Given the description of an element on the screen output the (x, y) to click on. 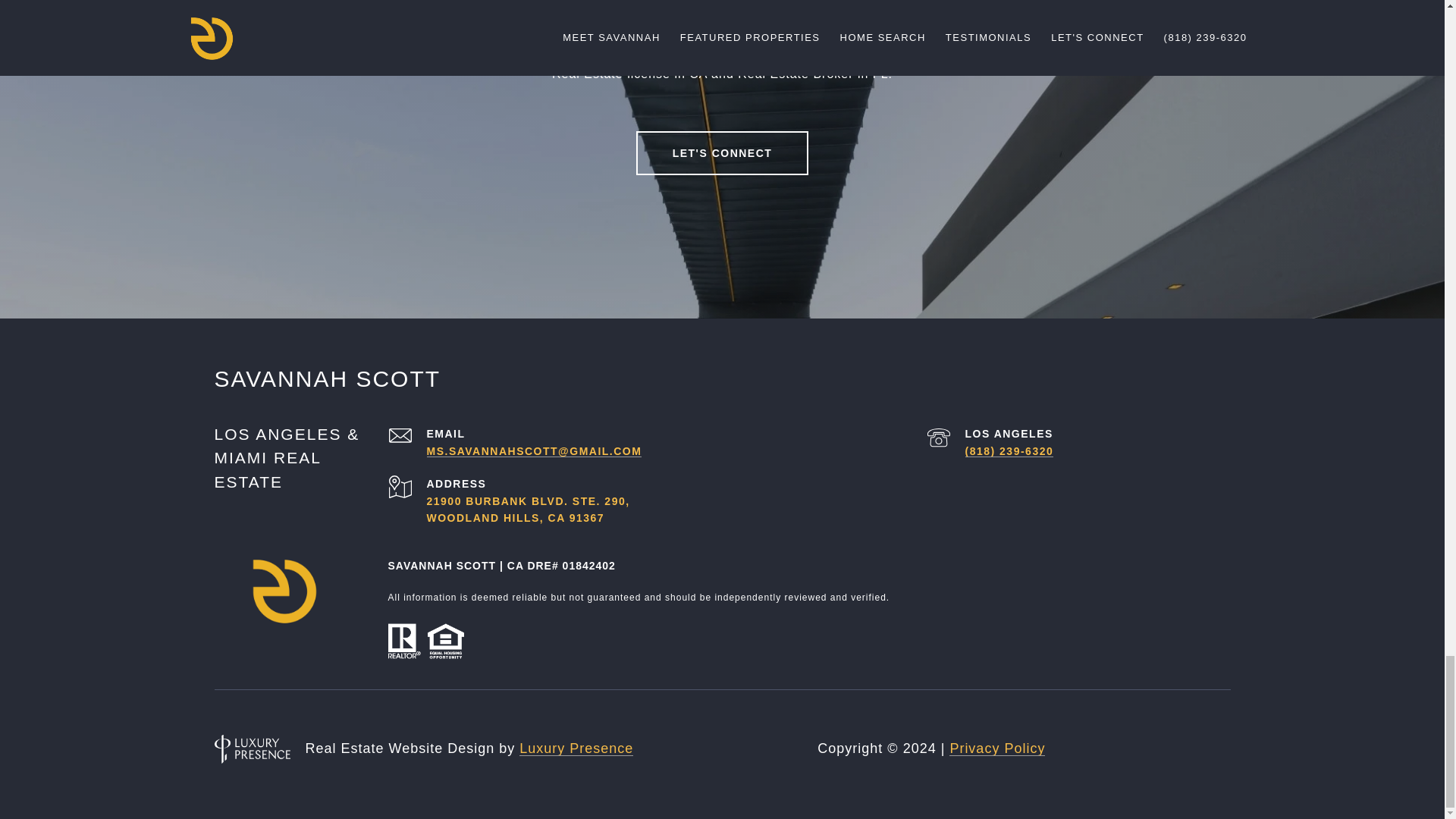
LET'S CONNECT (722, 153)
